Given the description of an element on the screen output the (x, y) to click on. 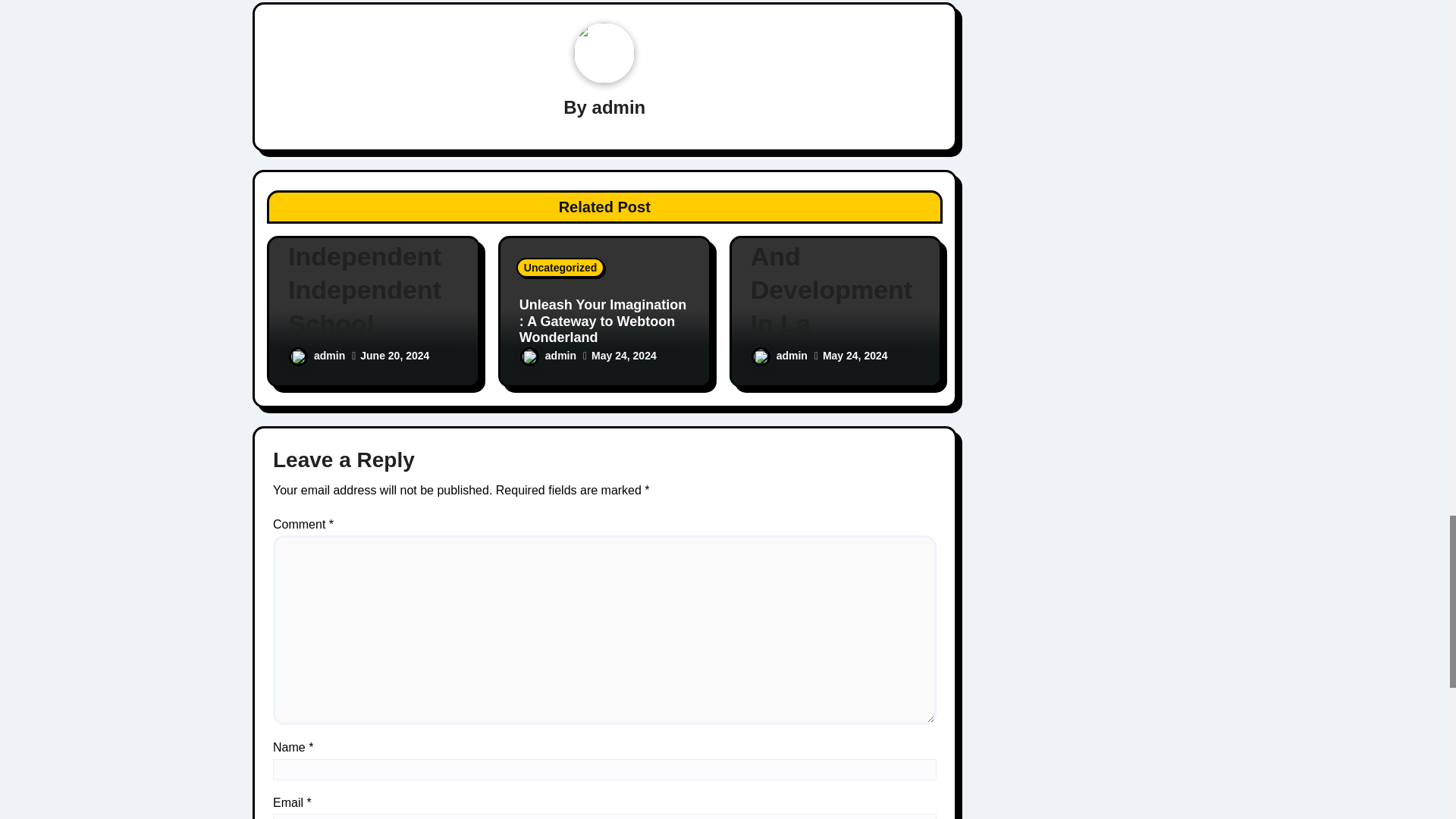
Permalink to: Independent Independent School (373, 289)
